Given the description of an element on the screen output the (x, y) to click on. 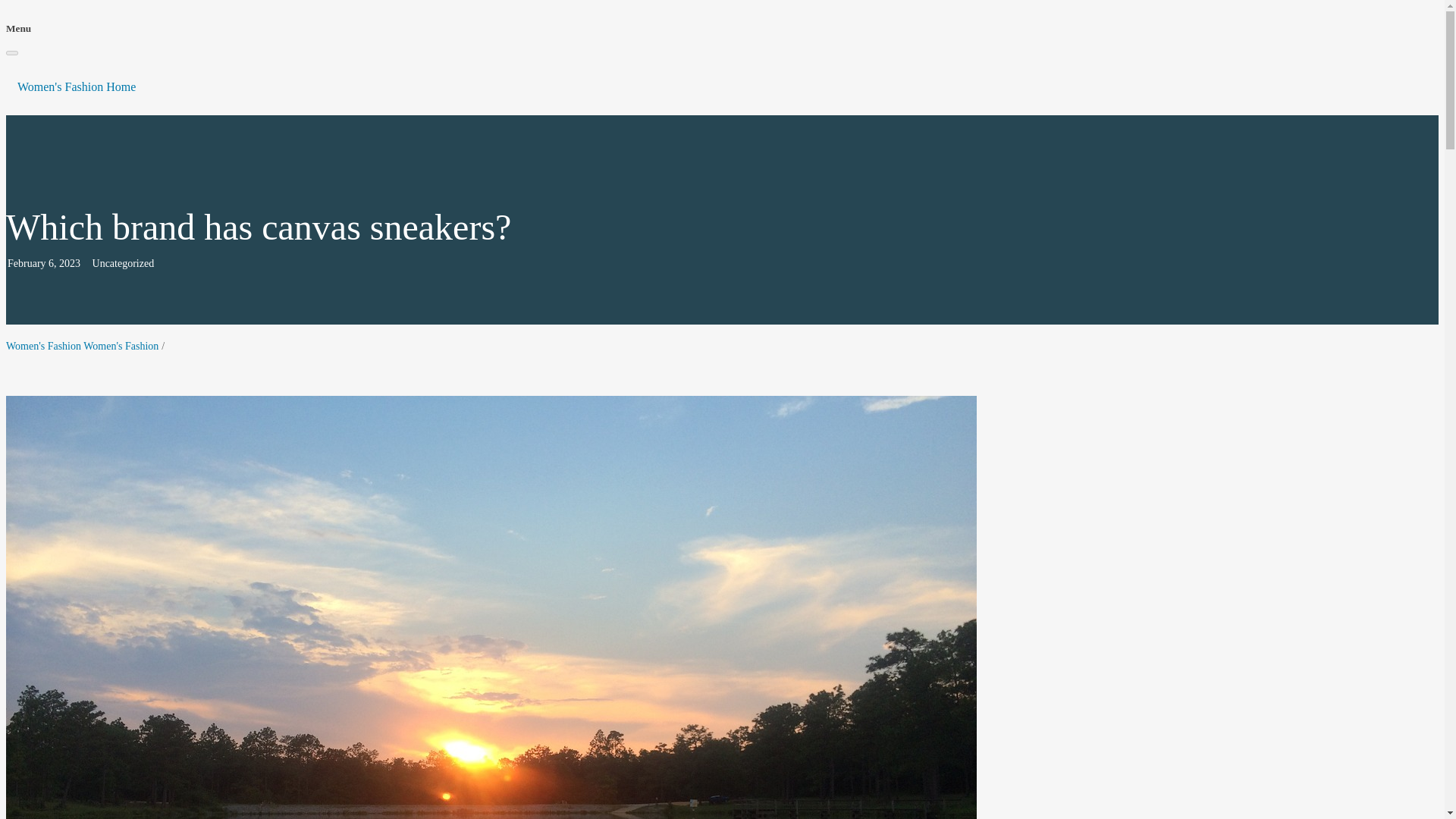
Women's Fashion Women's Fashion (81, 346)
2023 (69, 263)
February (26, 263)
